Given the description of an element on the screen output the (x, y) to click on. 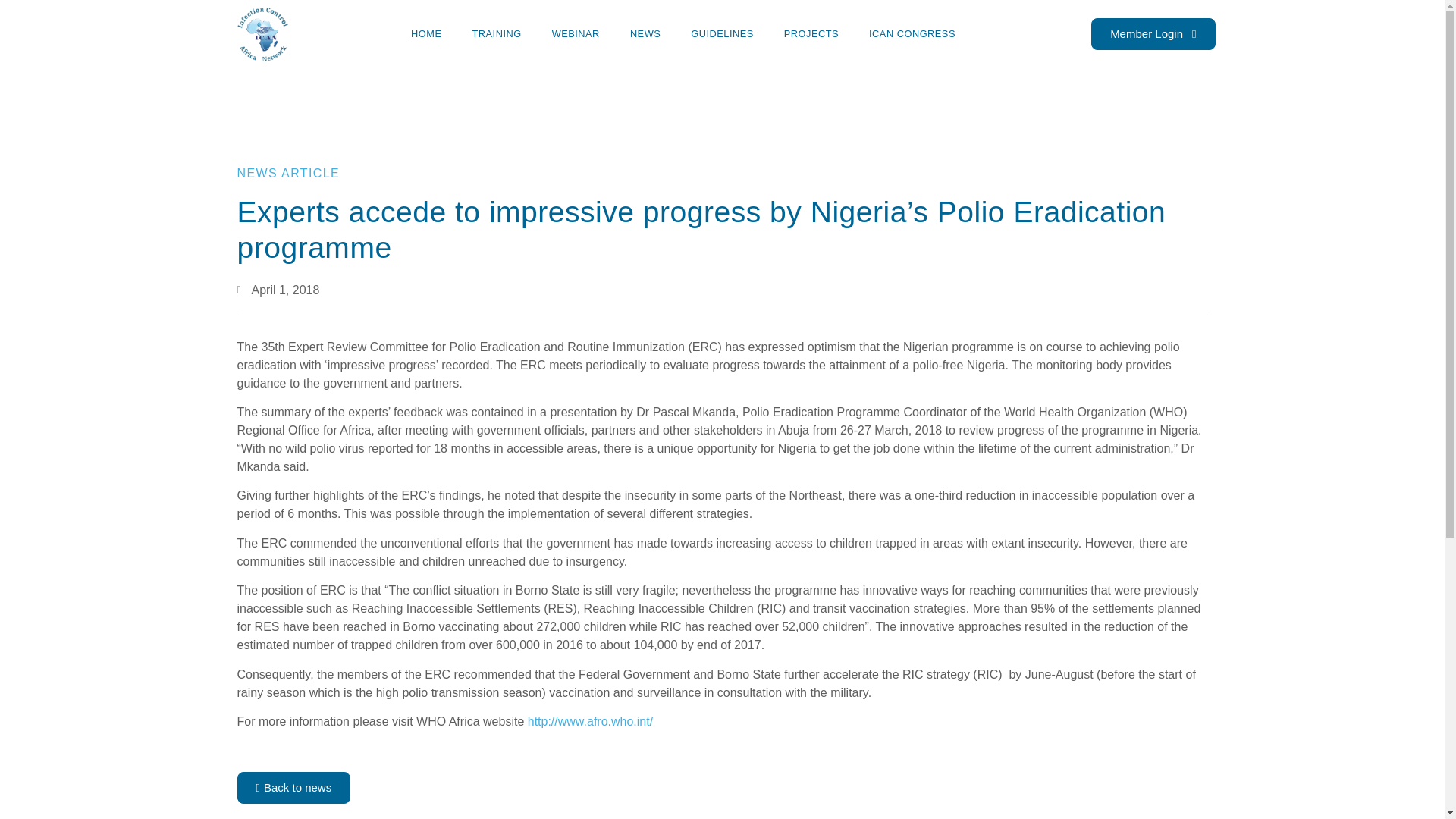
PROJECTS (810, 33)
GUIDELINES (721, 33)
HOME (426, 33)
NEWS (644, 33)
ICAN CONGRESS (912, 33)
TRAINING (496, 33)
WEBINAR (575, 33)
